Given the description of an element on the screen output the (x, y) to click on. 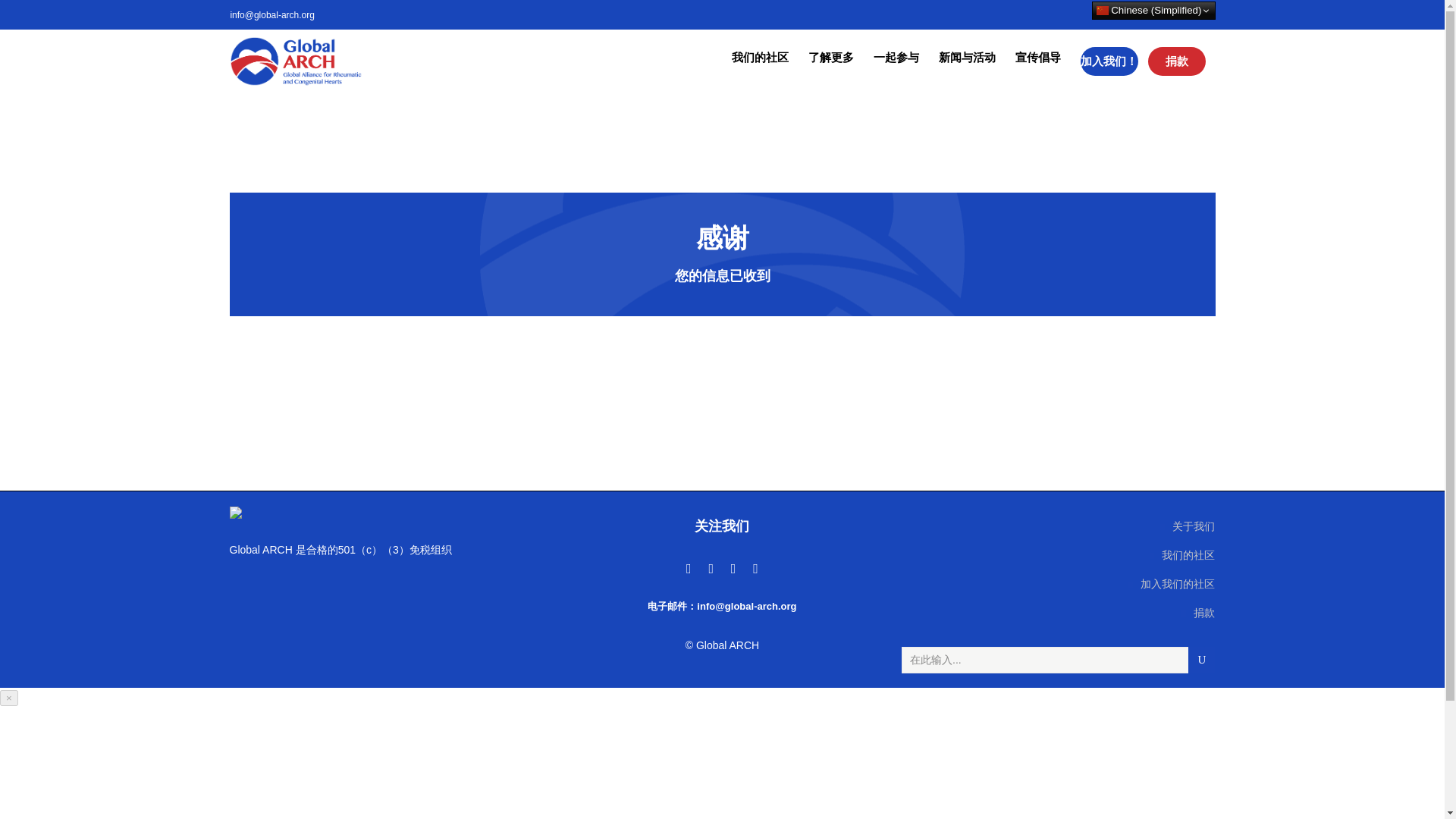
U (1201, 660)
